Given the description of an element on the screen output the (x, y) to click on. 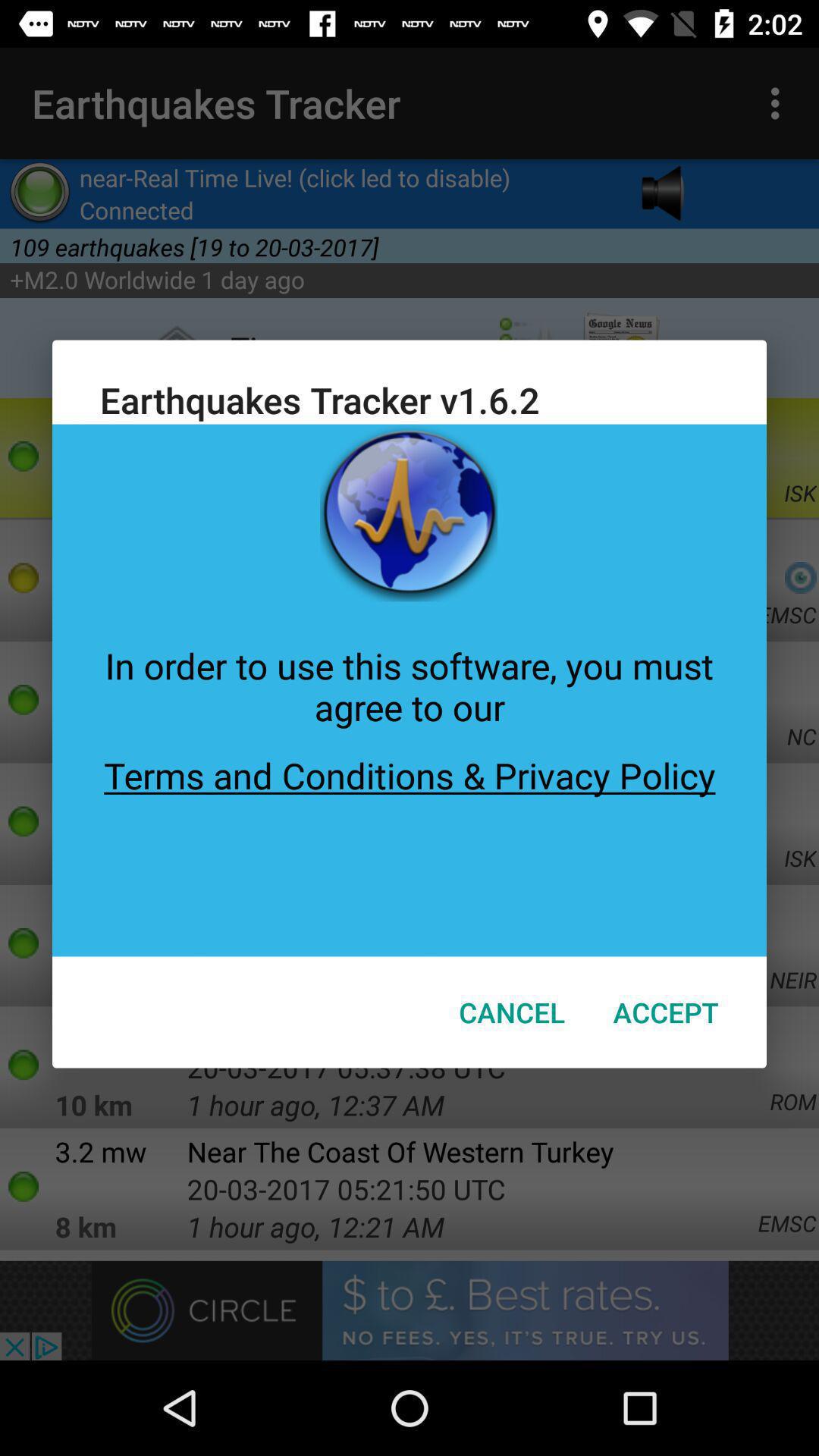
tap icon next to accept icon (512, 1012)
